Given the description of an element on the screen output the (x, y) to click on. 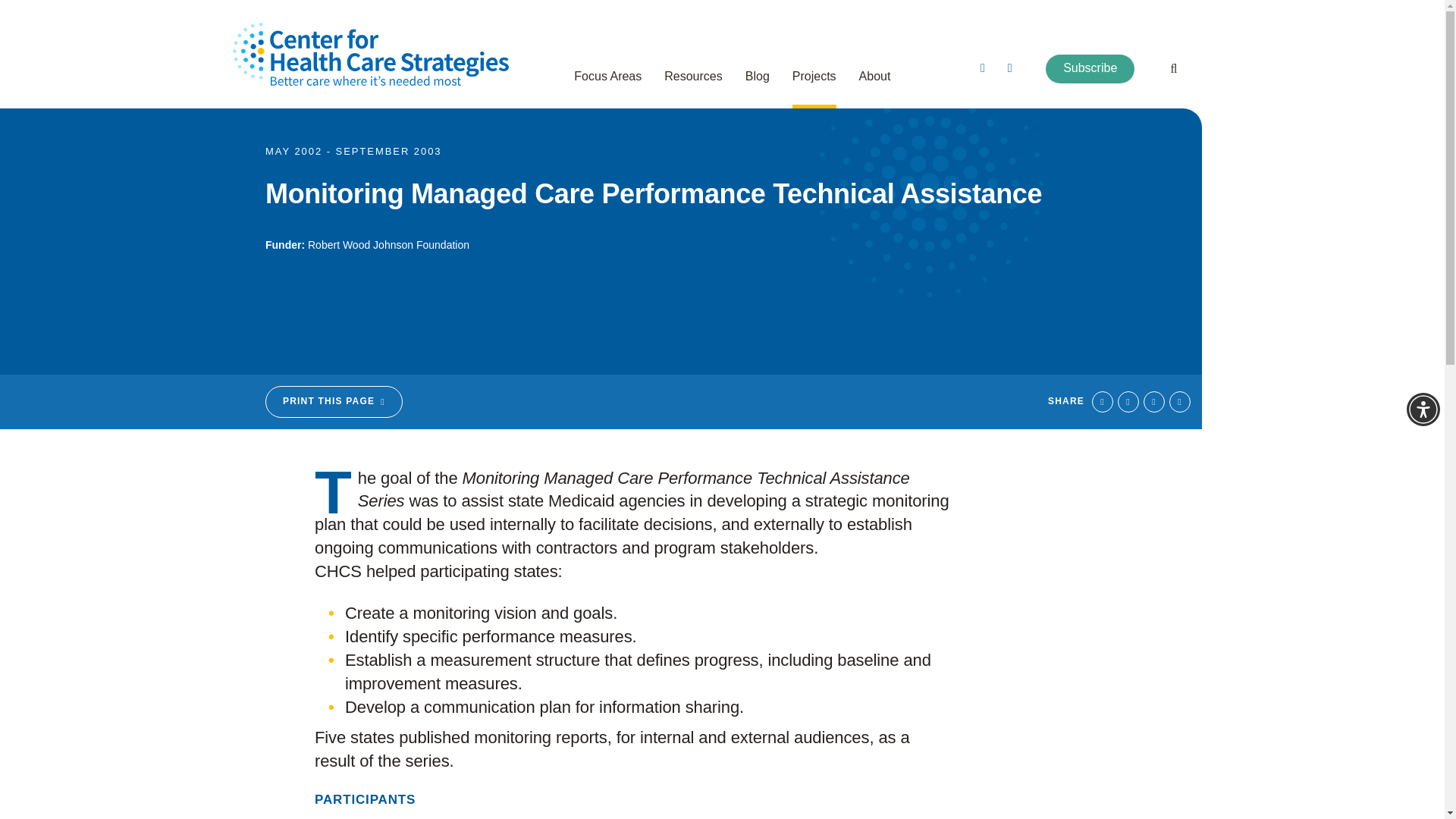
Better care where it's needed most (370, 53)
Accessibility Menu (1422, 409)
Resources (692, 85)
Focus Areas (607, 85)
About (875, 85)
Blog (757, 85)
Projects (813, 85)
